Given the description of an element on the screen output the (x, y) to click on. 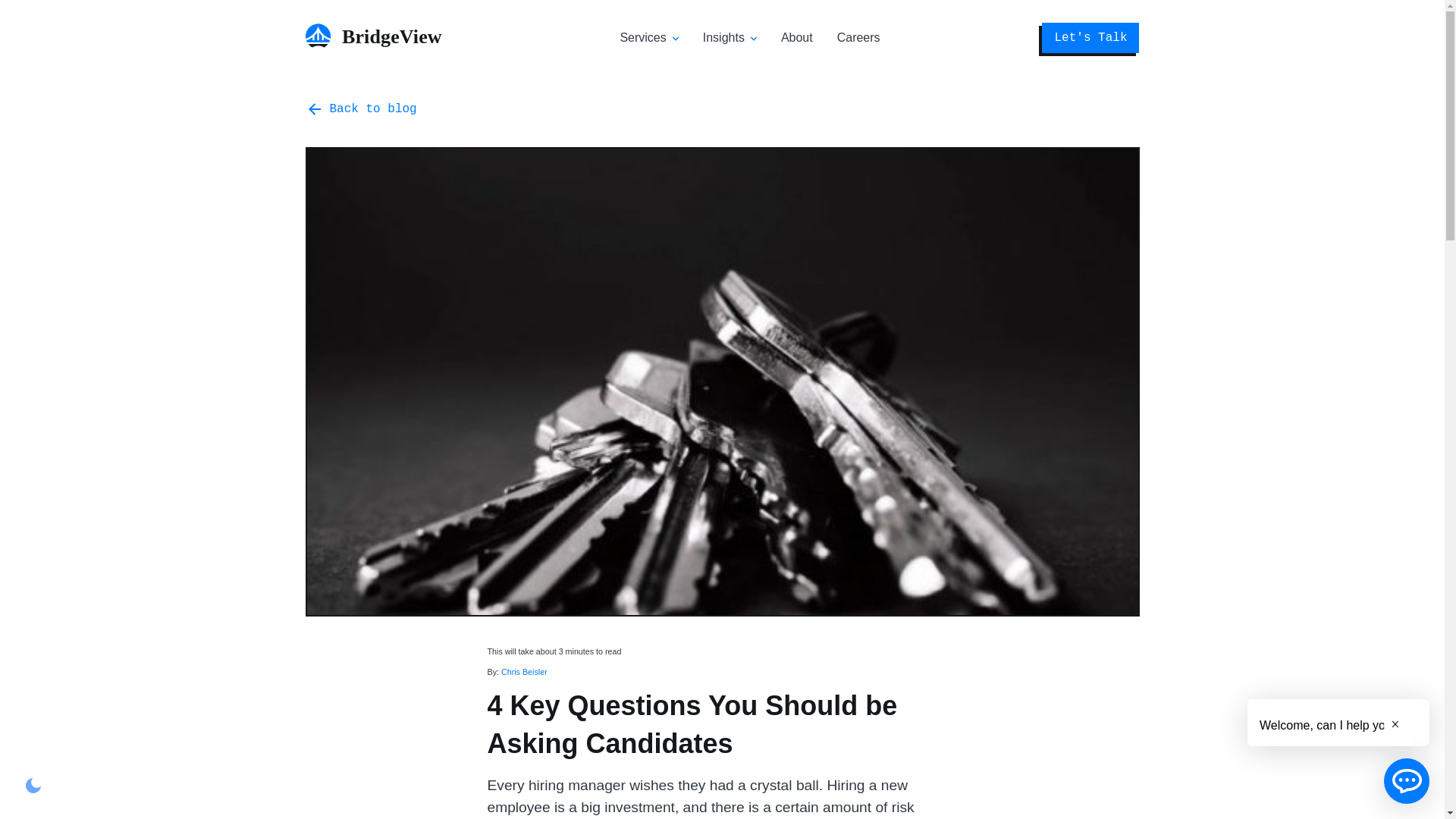
About (796, 37)
BridgeView (380, 35)
Let's Talk (1090, 37)
Insights (723, 37)
on (33, 785)
Chris Beisler (523, 671)
Services (642, 37)
BridgeView (380, 42)
Back to blog (360, 108)
Careers (858, 37)
